Given the description of an element on the screen output the (x, y) to click on. 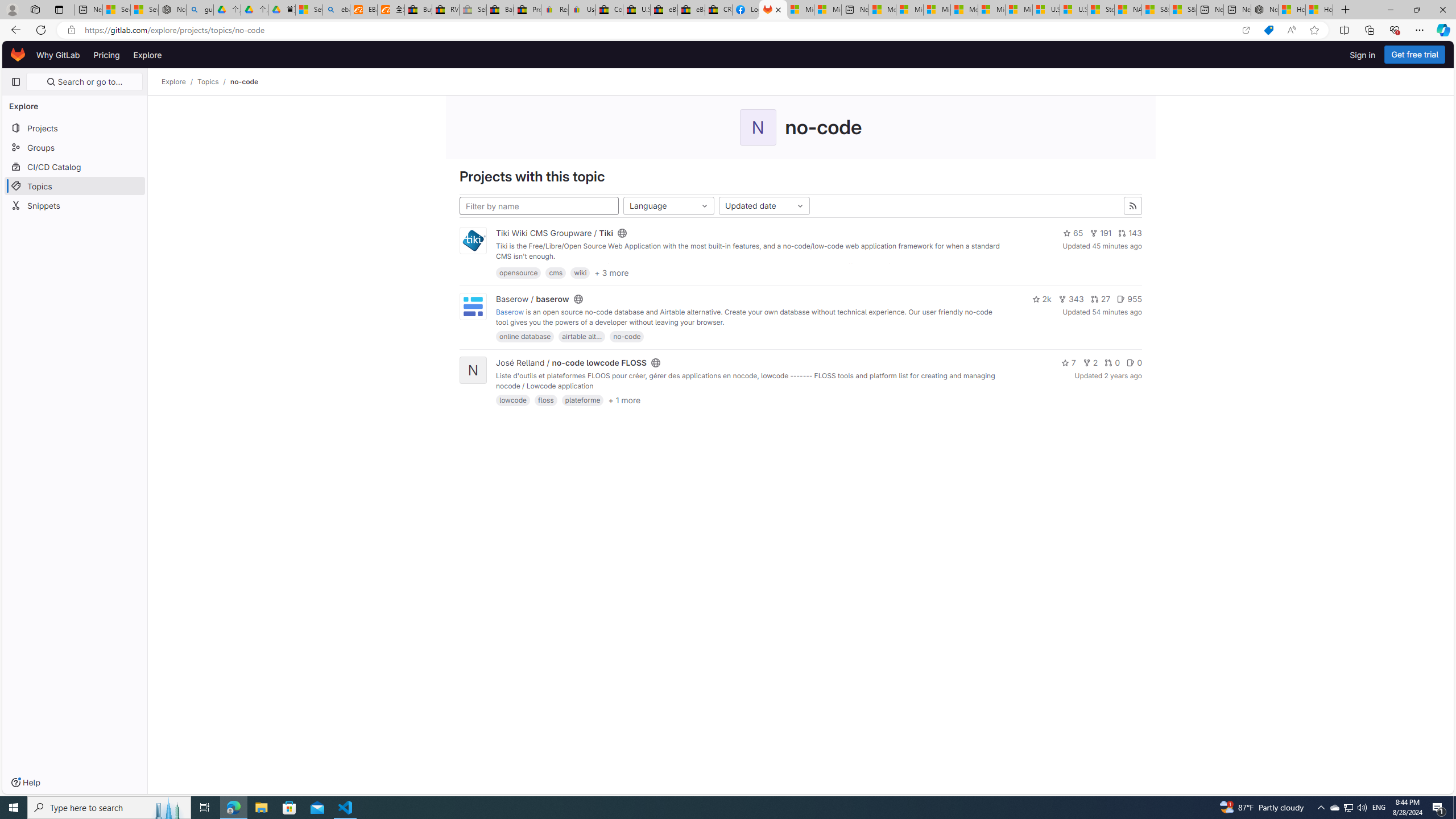
Why GitLab (58, 54)
Address and search bar (658, 29)
cms (556, 272)
eBay Inc. Reports Third Quarter 2023 Results (691, 9)
Groups (74, 147)
https://dev.tiki.org/Where-To-Commit (889, 266)
Baby Keepsakes & Announcements for sale | eBay (499, 9)
airtable alt... (582, 336)
2k (1041, 299)
CI/CD Catalog (74, 166)
